Given the description of an element on the screen output the (x, y) to click on. 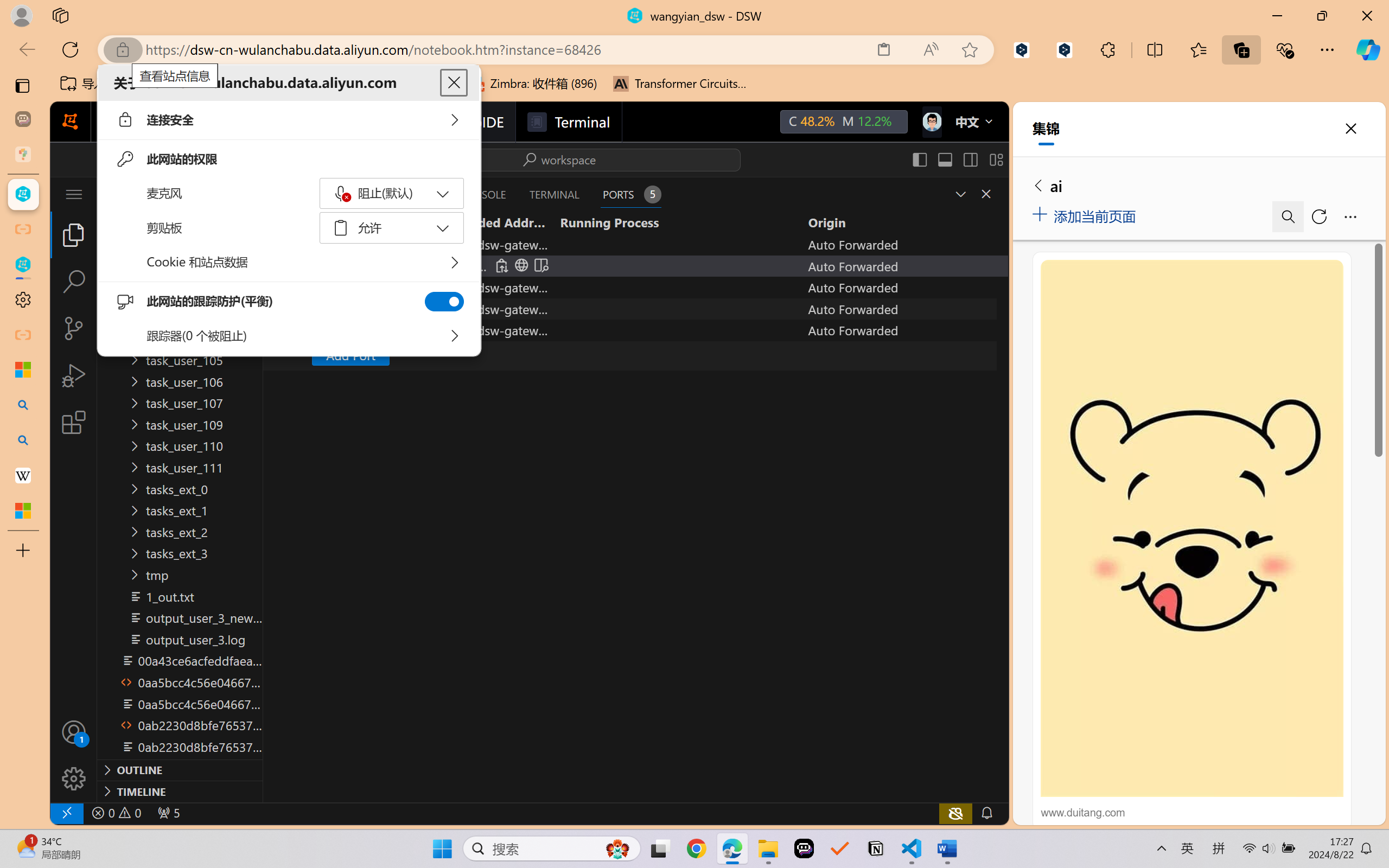
Manage (73, 778)
Class: c01120 (346, 196)
Terminal (568, 121)
remote (66, 812)
Manage (73, 755)
Forwarded Ports: 36301, 47065, 38781, 45817, 50331 (167, 812)
